Given the description of an element on the screen output the (x, y) to click on. 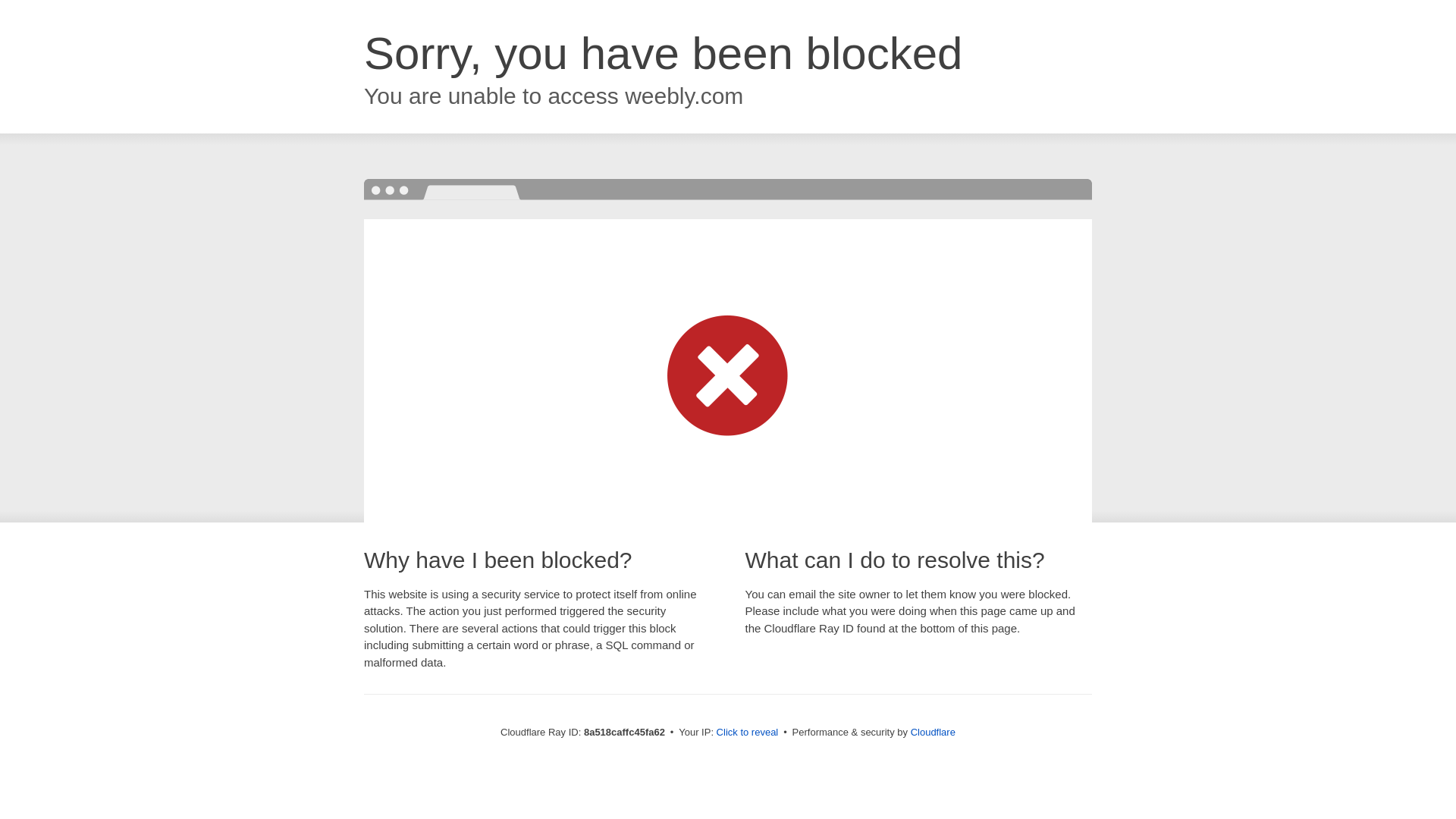
Click to reveal (747, 732)
Cloudflare (933, 731)
